Given the description of an element on the screen output the (x, y) to click on. 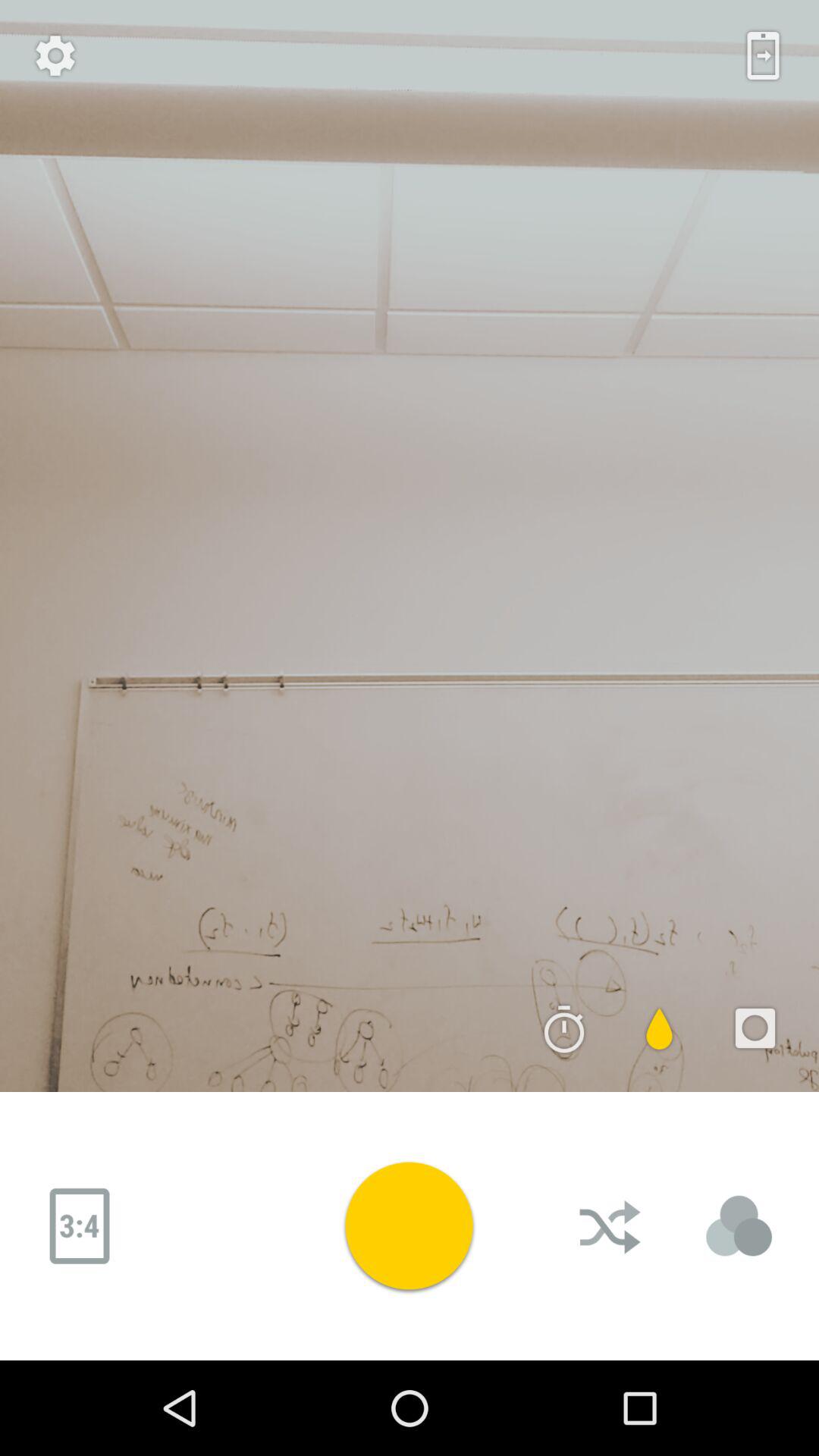
timer (563, 1028)
